Given the description of an element on the screen output the (x, y) to click on. 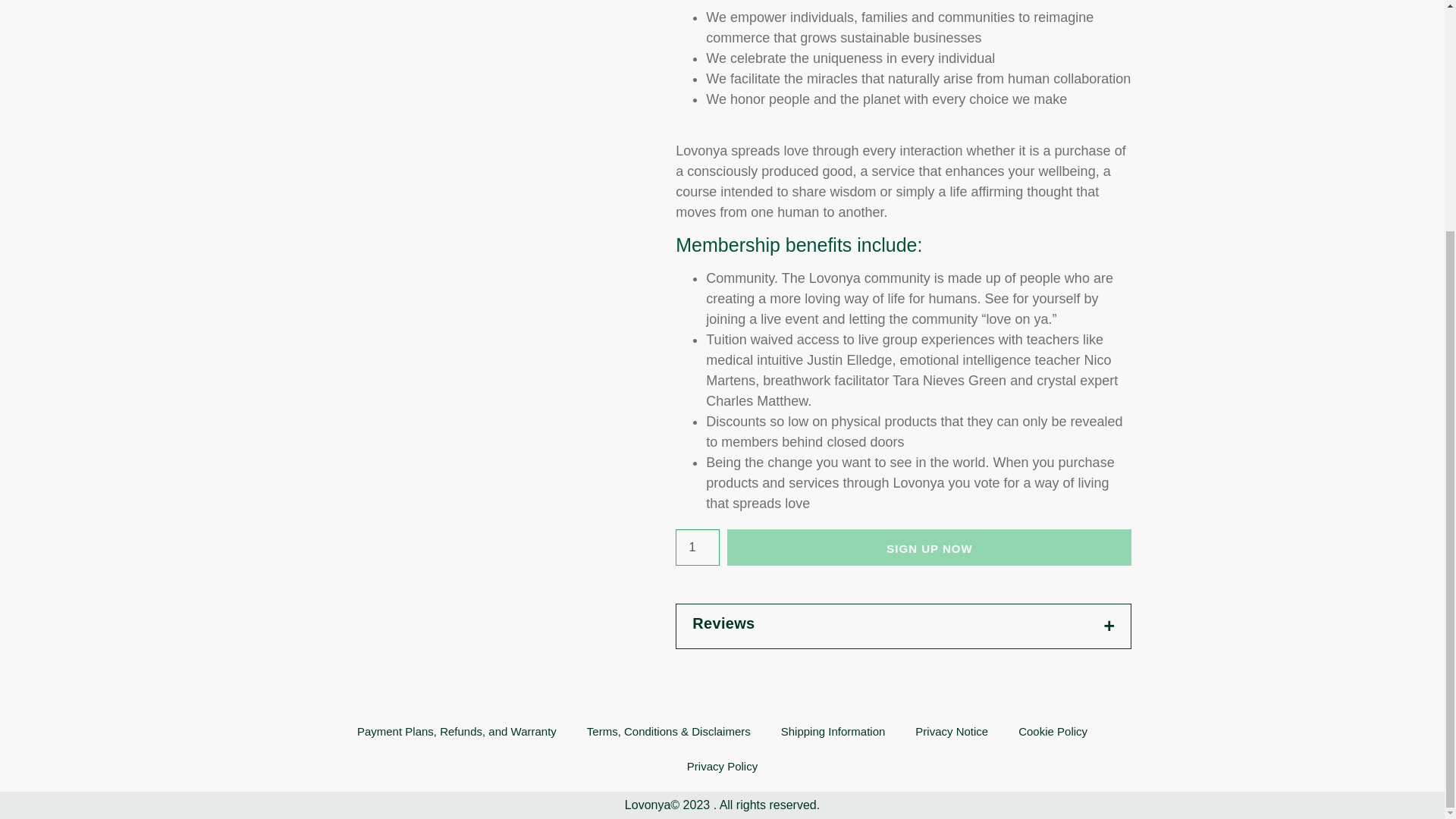
SIGN UP NOW (928, 547)
Reviews (904, 626)
1 (697, 547)
